Given the description of an element on the screen output the (x, y) to click on. 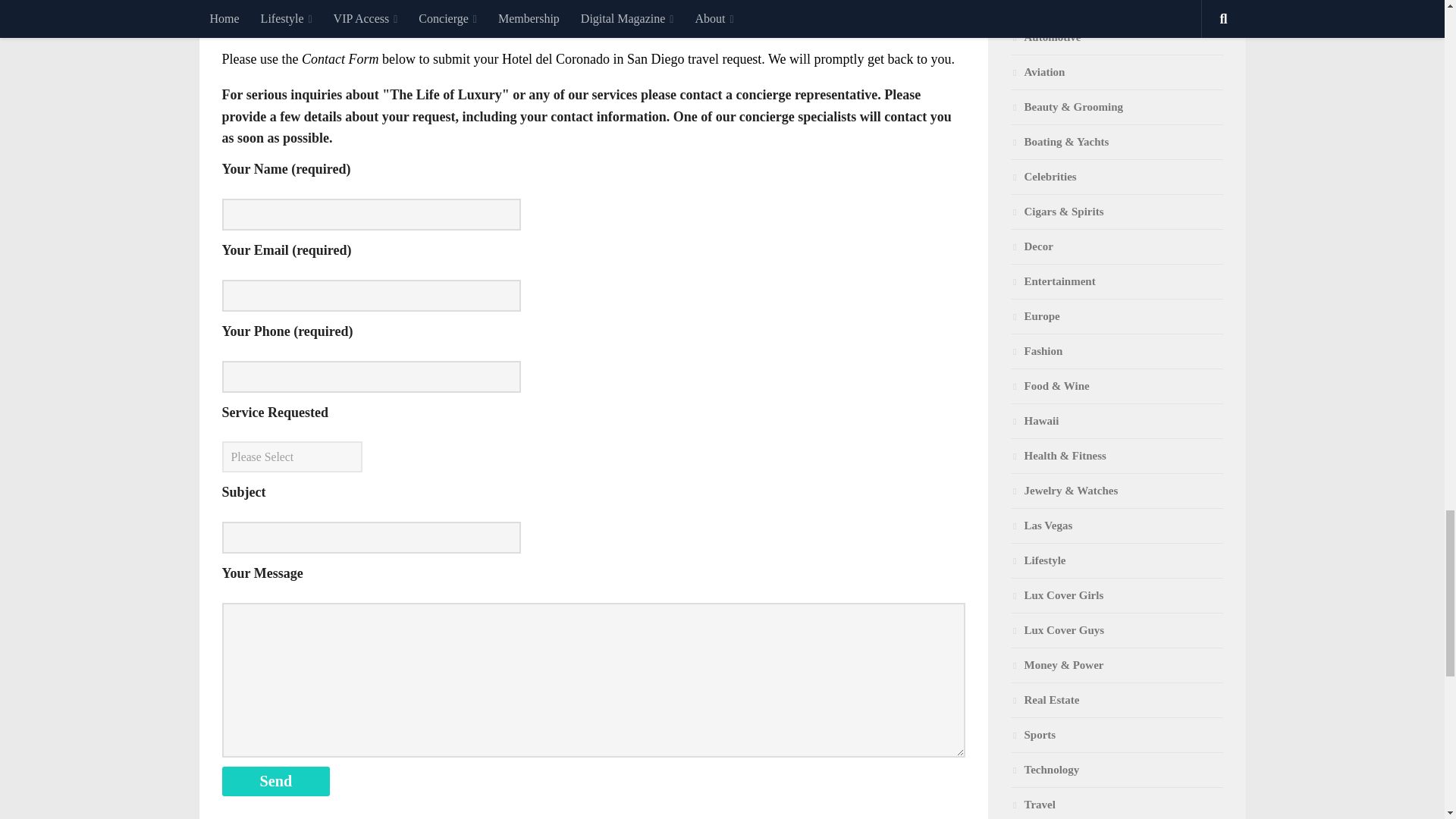
Send (275, 781)
